Given the description of an element on the screen output the (x, y) to click on. 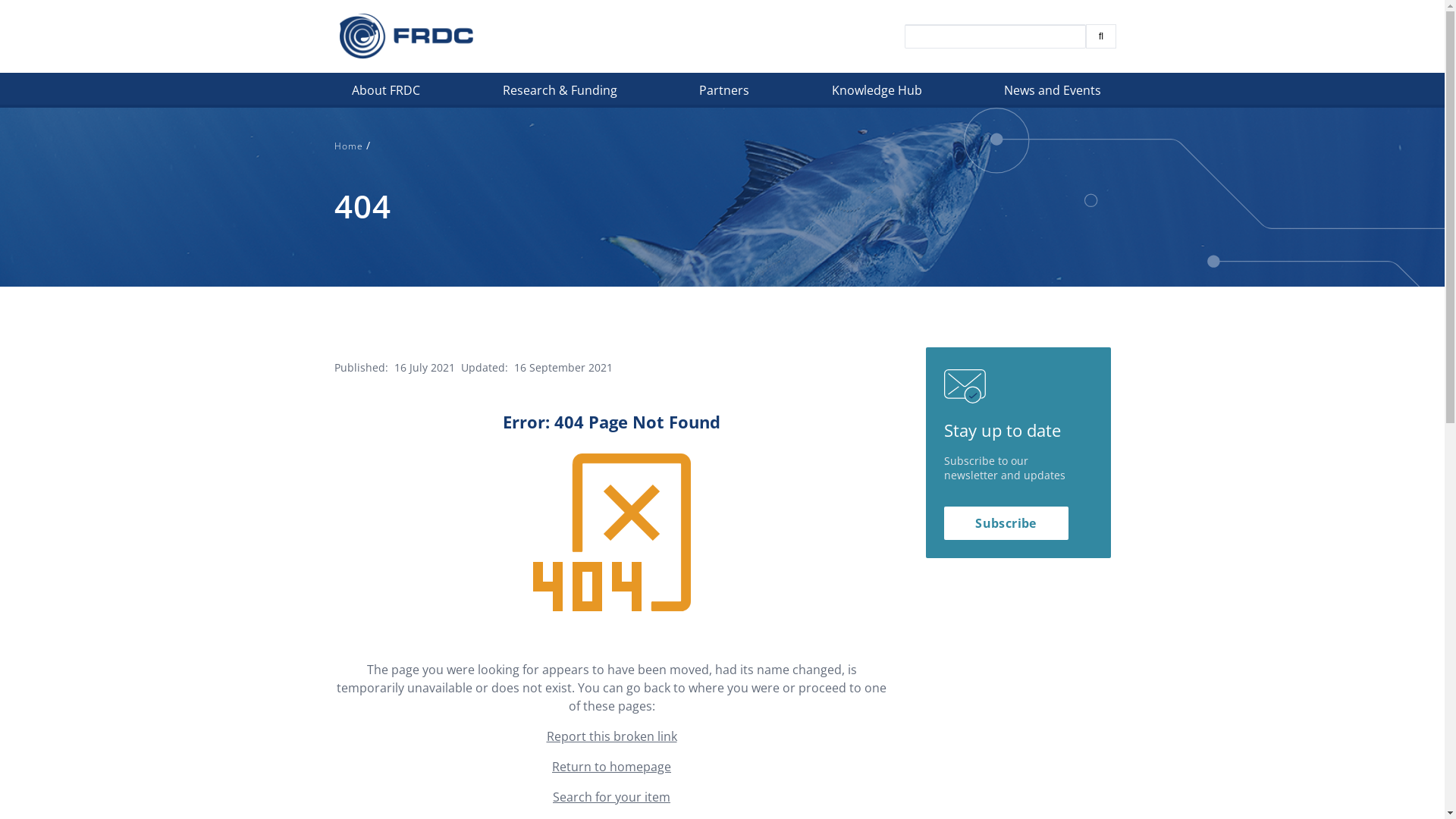
Report this broken link Element type: text (611, 736)
Home Element type: text (348, 145)
Partners Element type: text (725, 93)
Skip to main content Element type: text (0, 107)
News and Events Element type: text (1053, 93)
About FRDC Element type: text (387, 93)
Knowledge Hub Element type: text (877, 93)
Research & Funding Element type: text (560, 93)
Return to homepage Element type: text (611, 766)
Subscribe Element type: text (1005, 522)
Search for your item Element type: text (611, 796)
Home Element type: hover (406, 36)
